Given the description of an element on the screen output the (x, y) to click on. 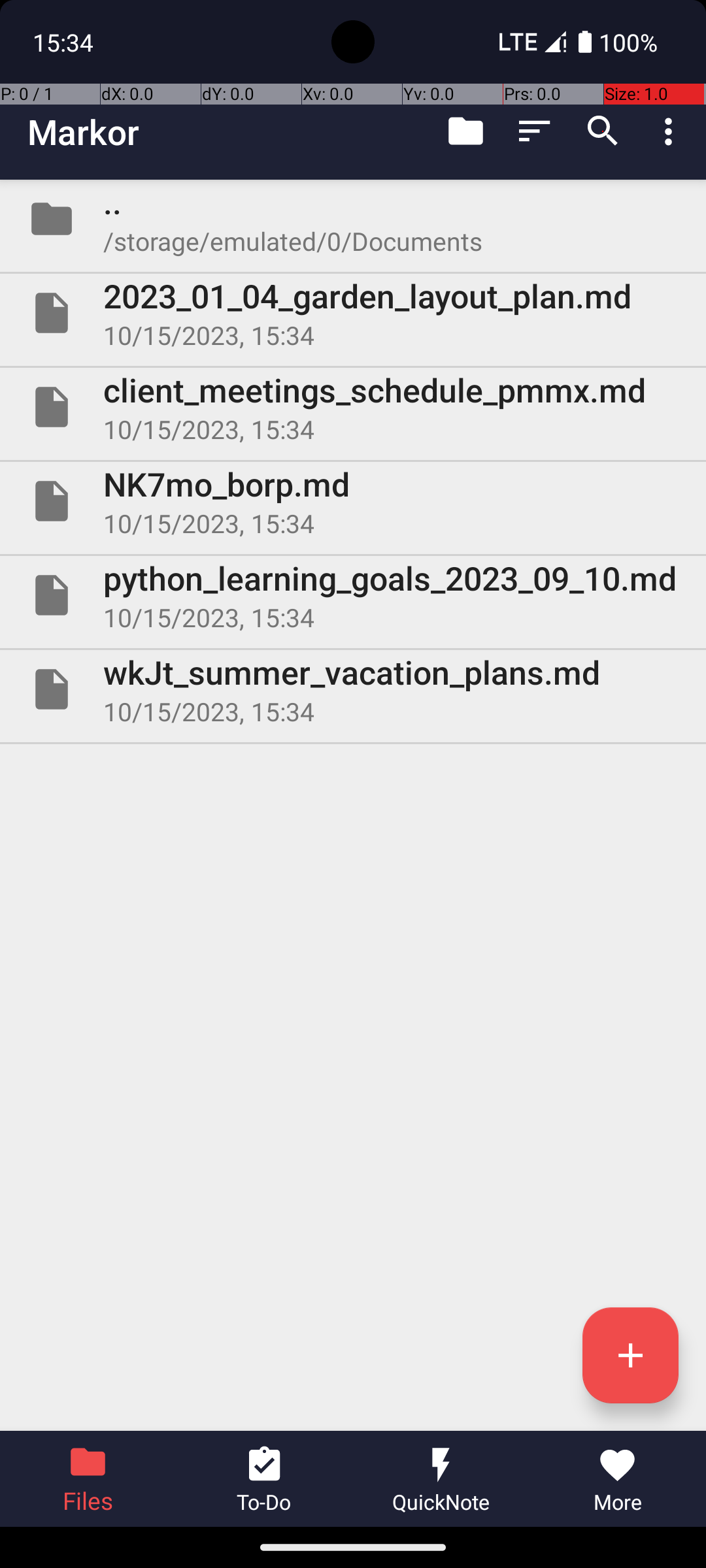
File 2023_01_04_garden_layout_plan.md  Element type: android.widget.LinearLayout (353, 312)
File client_meetings_schedule_pmmx.md  Element type: android.widget.LinearLayout (353, 406)
File NK7mo_borp.md  Element type: android.widget.LinearLayout (353, 500)
File python_learning_goals_2023_09_10.md  Element type: android.widget.LinearLayout (353, 594)
File wkJt_summer_vacation_plans.md  Element type: android.widget.LinearLayout (353, 689)
